Given the description of an element on the screen output the (x, y) to click on. 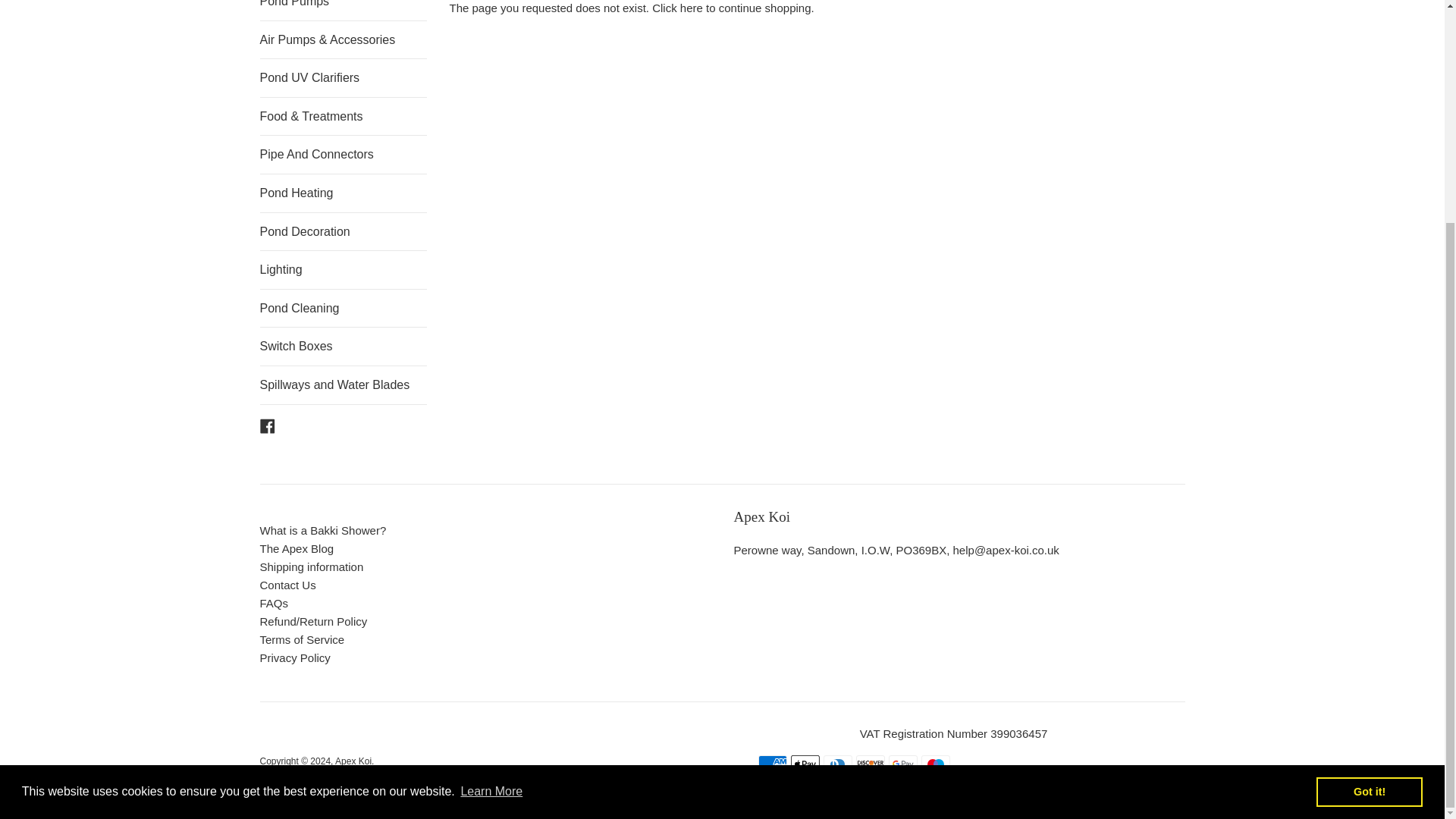
Apex Koi on Facebook (267, 424)
Got it! (1369, 494)
Contact Us (287, 584)
Diners Club (837, 764)
Pond Cleaning (342, 308)
Pipe And Connectors (342, 154)
Switch Boxes (342, 346)
Union Pay (905, 787)
Spillways and Water Blades (342, 385)
Mastercard (809, 787)
Maestro (934, 764)
Visa (938, 787)
Apple Pay (804, 764)
Pond Heating (342, 193)
What is a Bakki Shower? (322, 530)
